Given the description of an element on the screen output the (x, y) to click on. 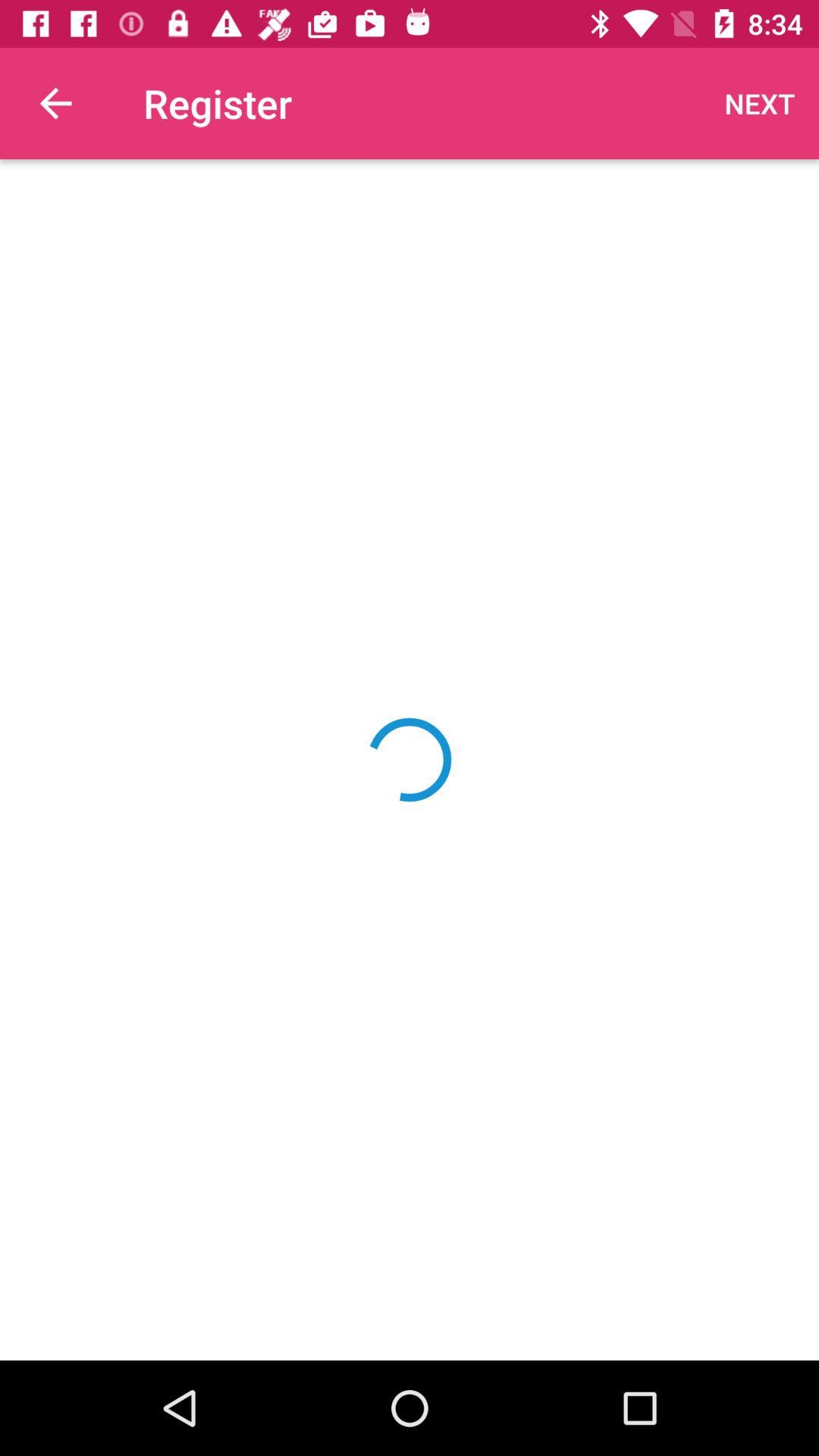
select the item at the top right corner (759, 103)
